Given the description of an element on the screen output the (x, y) to click on. 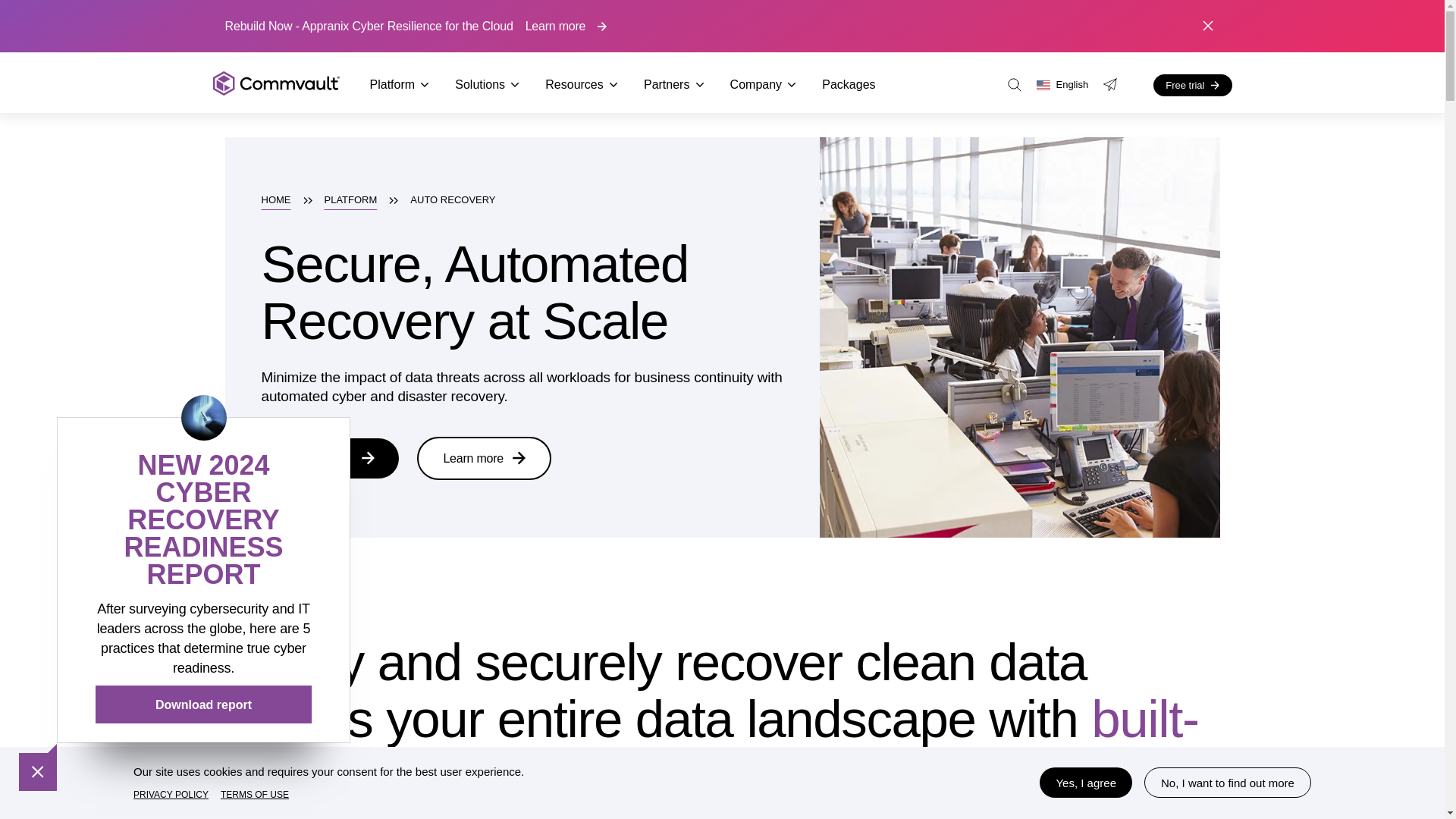
Dismiss Alert (1207, 26)
Commvault - English - United States (275, 84)
Platform (401, 84)
Download report (203, 704)
Solutions (487, 84)
Learn more (566, 26)
